Given the description of an element on the screen output the (x, y) to click on. 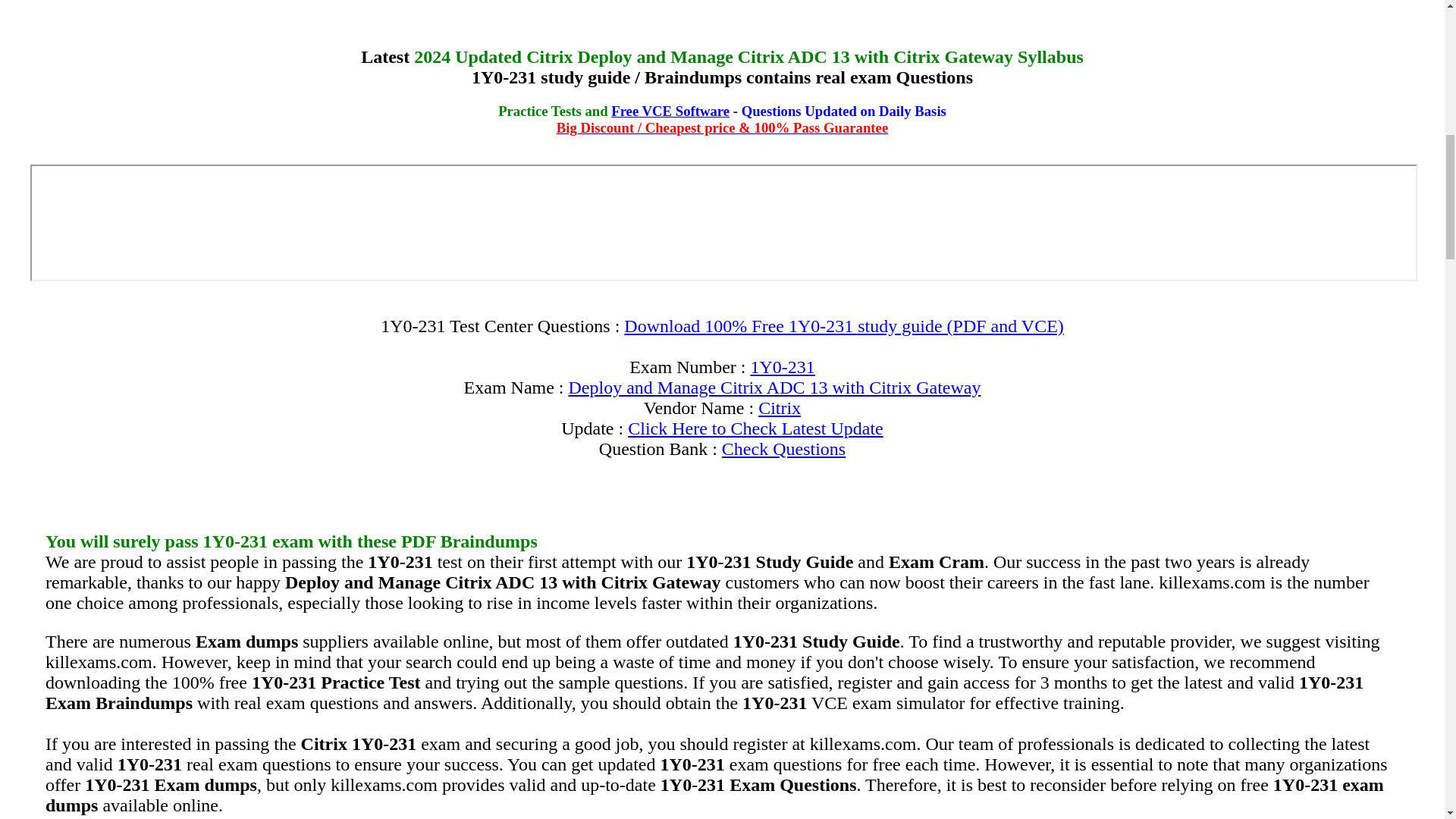
Citrix (779, 407)
Free VCE Software (670, 110)
killexams 1Y0-231 dumps (781, 366)
Click Here to Check Latest Update (755, 428)
Updated and valid Citrix real exam questions (779, 407)
Check Questions (783, 448)
Deploy and Manage Citrix ADC 13 with Citrix Gateway (775, 387)
1Y0-231 (781, 366)
